Given the description of an element on the screen output the (x, y) to click on. 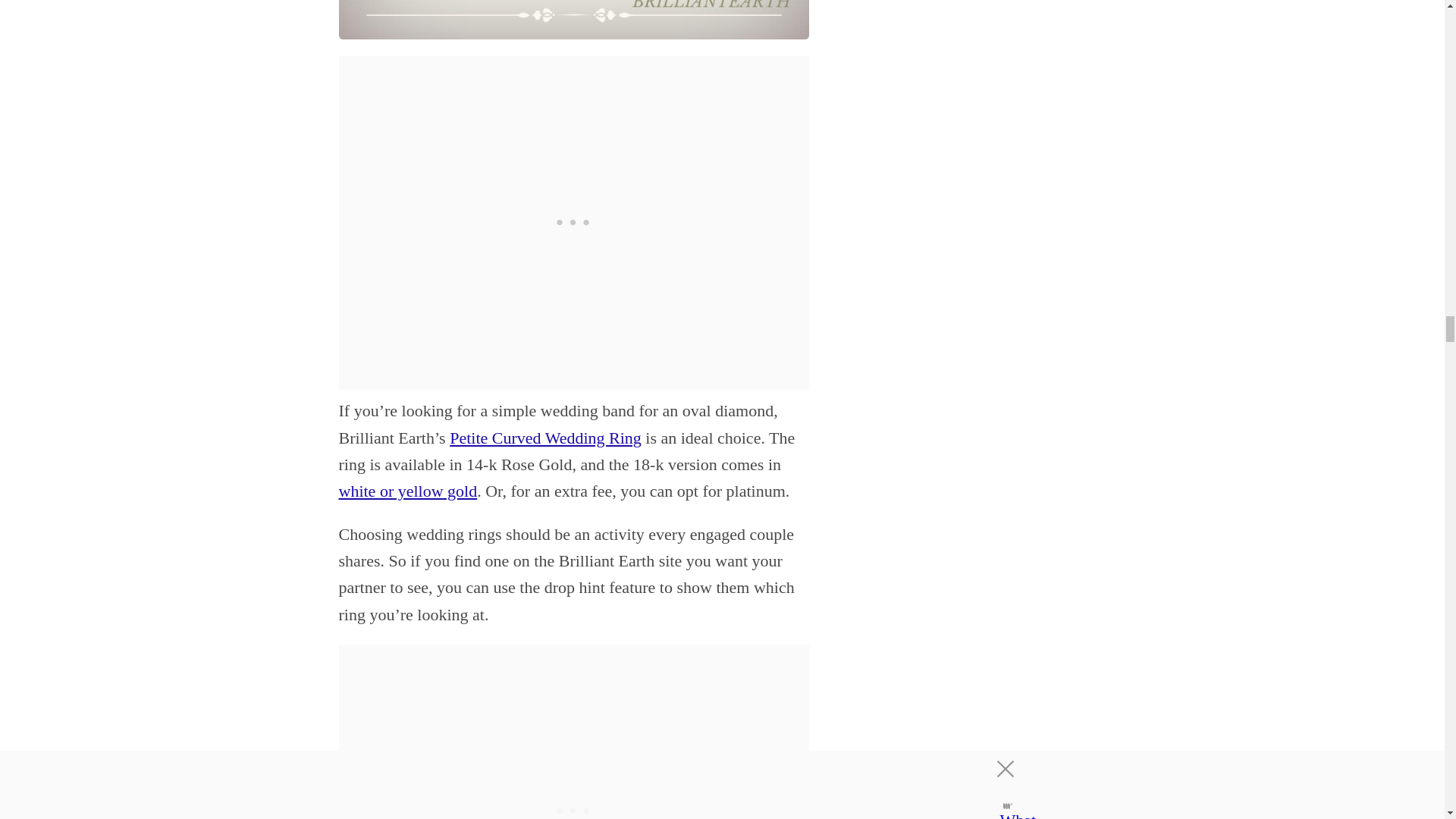
white or yellow gold (407, 490)
Petite Curved Wedding Ring (545, 437)
